Given the description of an element on the screen output the (x, y) to click on. 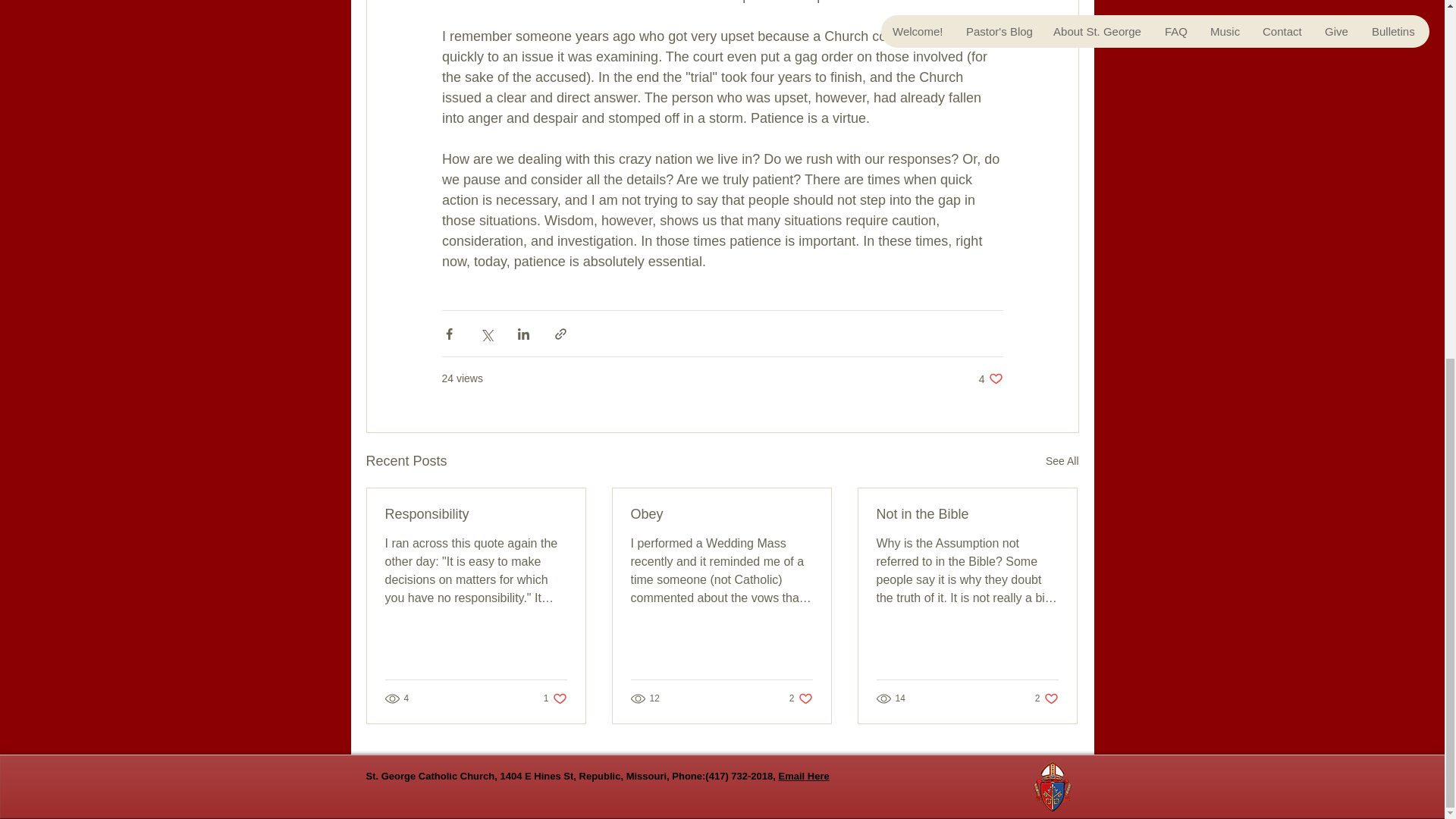
See All (1061, 461)
Obey (721, 514)
Not in the Bible (800, 698)
Email Here (555, 698)
Responsibility (967, 514)
